Given the description of an element on the screen output the (x, y) to click on. 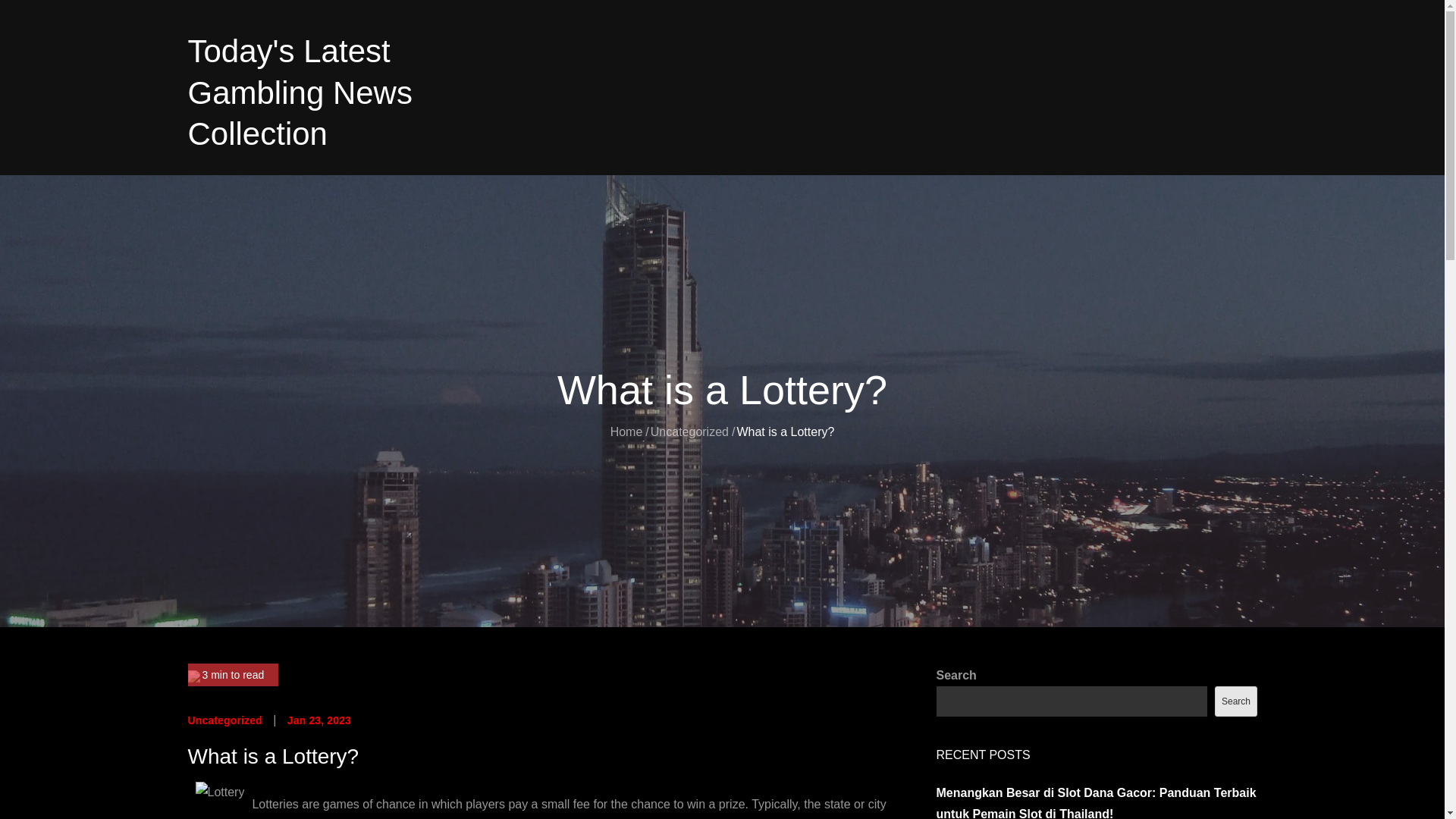
Home (626, 431)
Search (1235, 701)
Uncategorized (689, 431)
Today's Latest Gambling News Collection (299, 92)
Jan 23, 2023 (318, 720)
Uncategorized (224, 720)
